Given the description of an element on the screen output the (x, y) to click on. 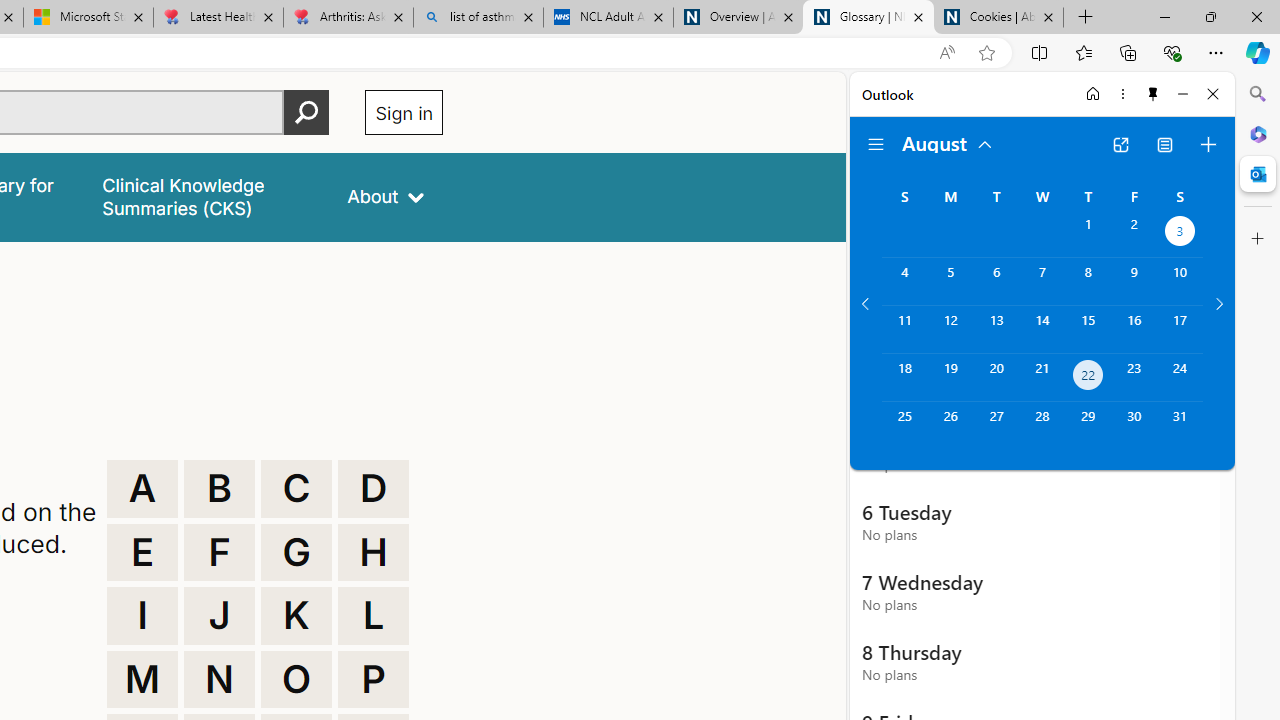
Wednesday, August 21, 2024.  (1042, 377)
Sunday, August 25, 2024.  (904, 425)
A (142, 488)
Friday, August 23, 2024.  (1134, 377)
E (142, 551)
K (296, 615)
N (219, 679)
C (296, 488)
